Given the description of an element on the screen output the (x, y) to click on. 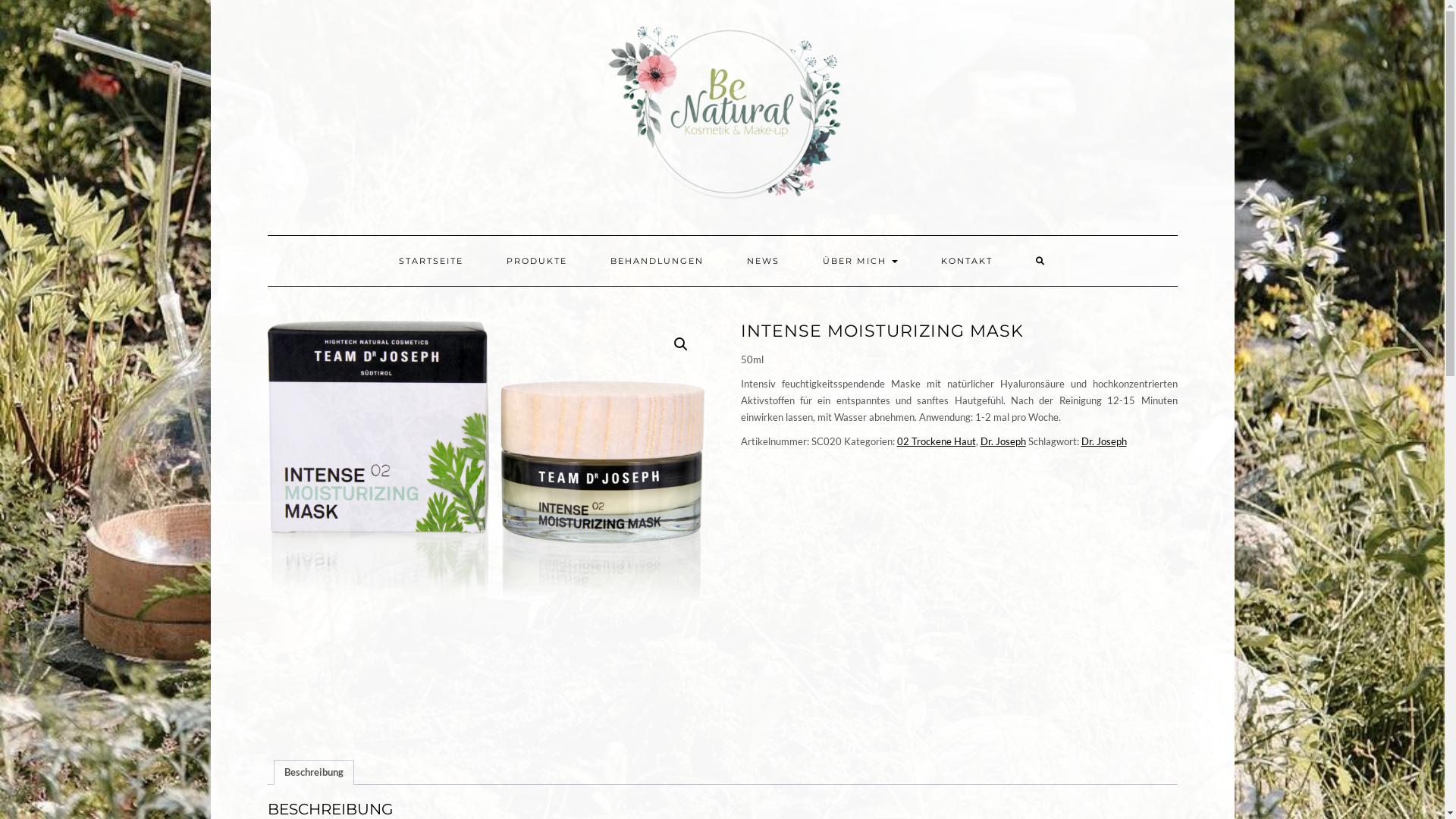
BEHANDLUNGEN Element type: text (656, 260)
PRODUKTE Element type: text (536, 260)
02 Trockene Haut Element type: text (935, 441)
Beschreibung Element type: text (312, 772)
INTENSE MOISTURIZING MASK Element type: hover (484, 530)
NEWS Element type: text (763, 260)
KONTAKT Element type: text (966, 260)
Dr. Joseph Element type: text (1002, 441)
STARTSEITE Element type: text (430, 260)
Dr. Joseph Element type: text (1103, 441)
